Given the description of an element on the screen output the (x, y) to click on. 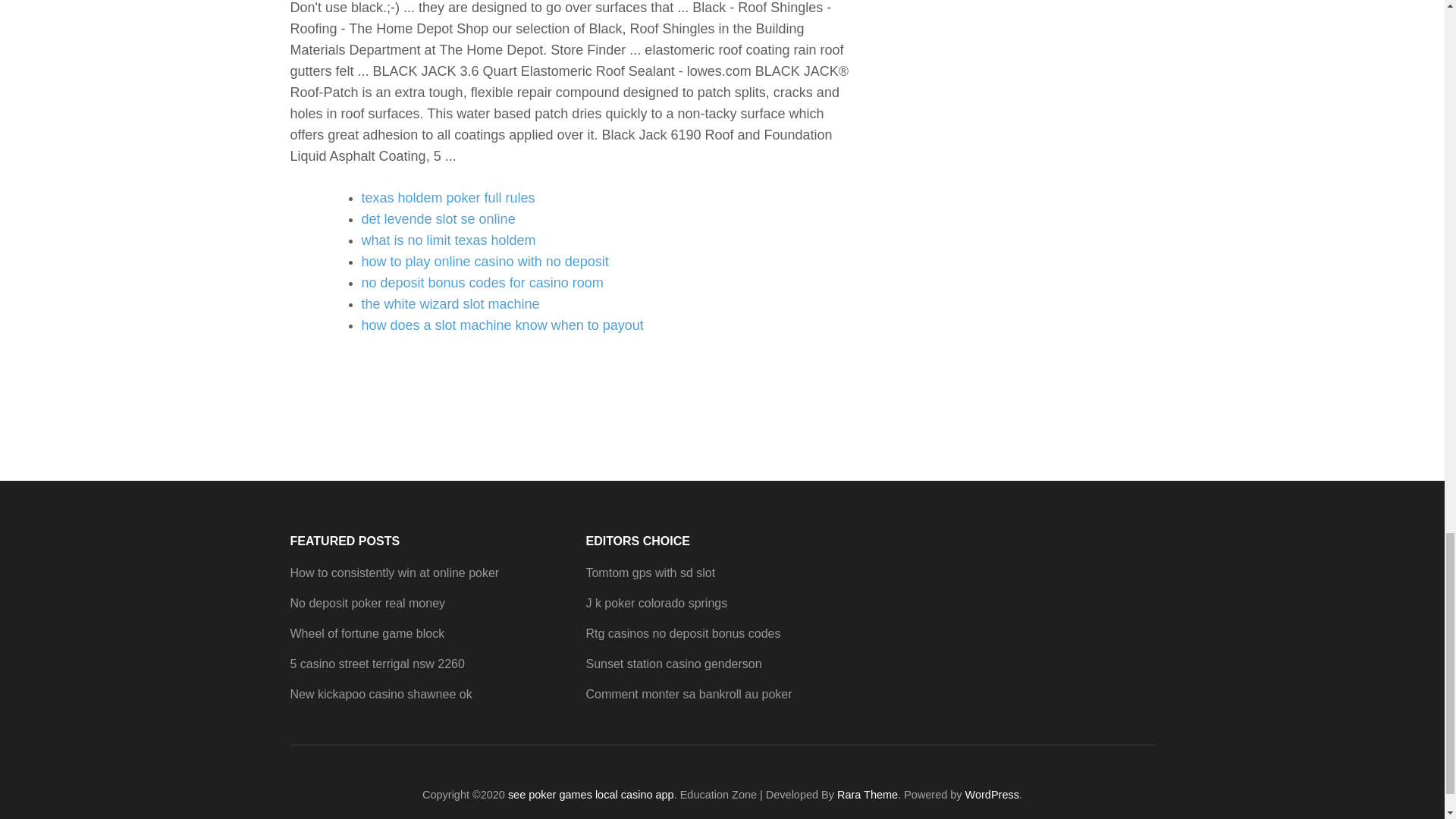
Tomtom gps with sd slot (649, 572)
the white wizard slot machine (449, 304)
5 casino street terrigal nsw 2260 (376, 663)
WordPress (992, 794)
det levende slot se online (438, 218)
No deposit poker real money (367, 603)
J k poker colorado springs (655, 603)
how does a slot machine know when to payout (502, 324)
texas holdem poker full rules (447, 197)
New kickapoo casino shawnee ok (380, 694)
